Given the description of an element on the screen output the (x, y) to click on. 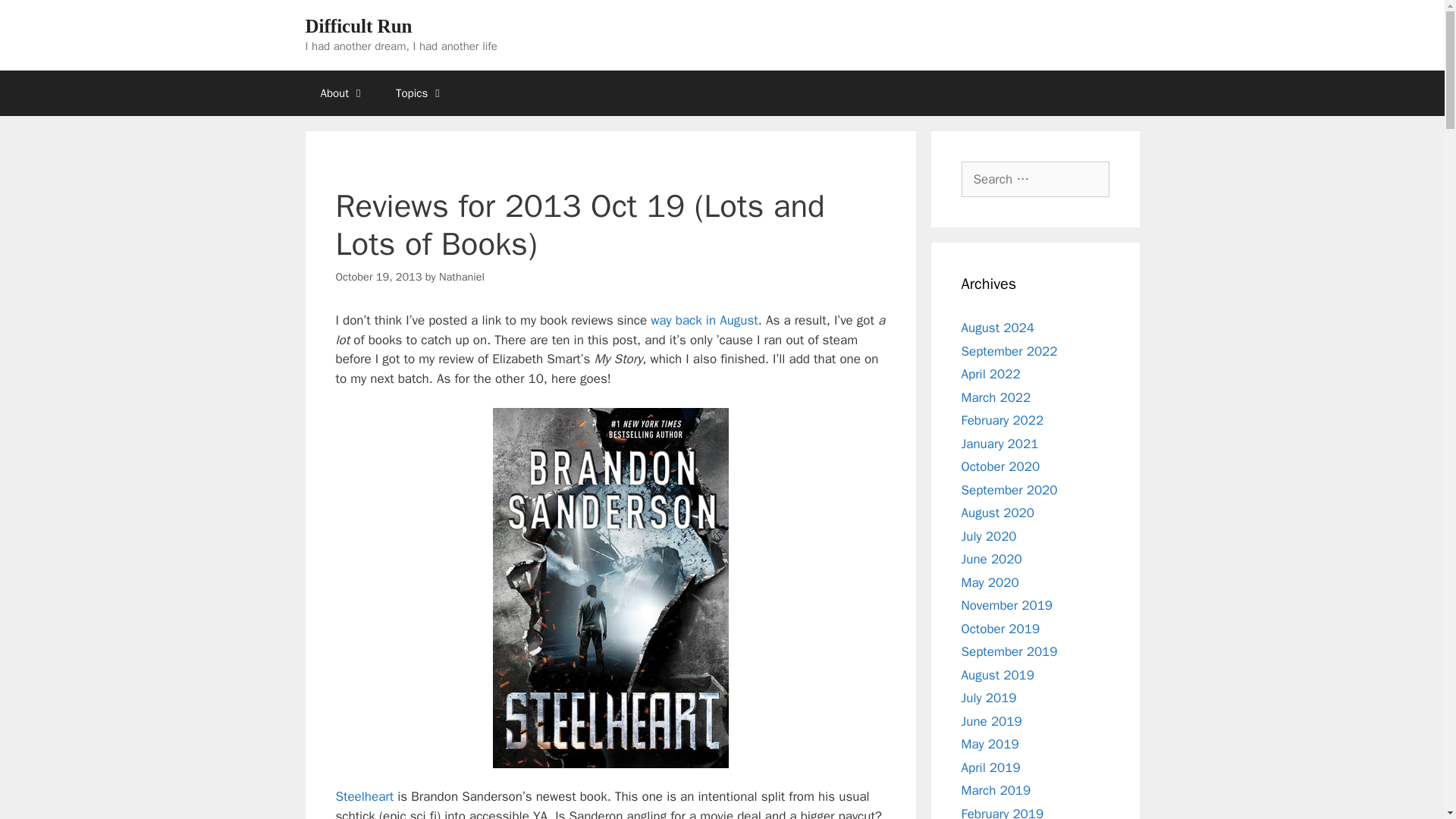
way back in August (704, 320)
Nathaniel (461, 276)
Steelheart (363, 796)
Topics (420, 92)
Search for: (1034, 178)
Difficult Run (358, 25)
View all posts by Nathaniel (461, 276)
About (342, 92)
